Given the description of an element on the screen output the (x, y) to click on. 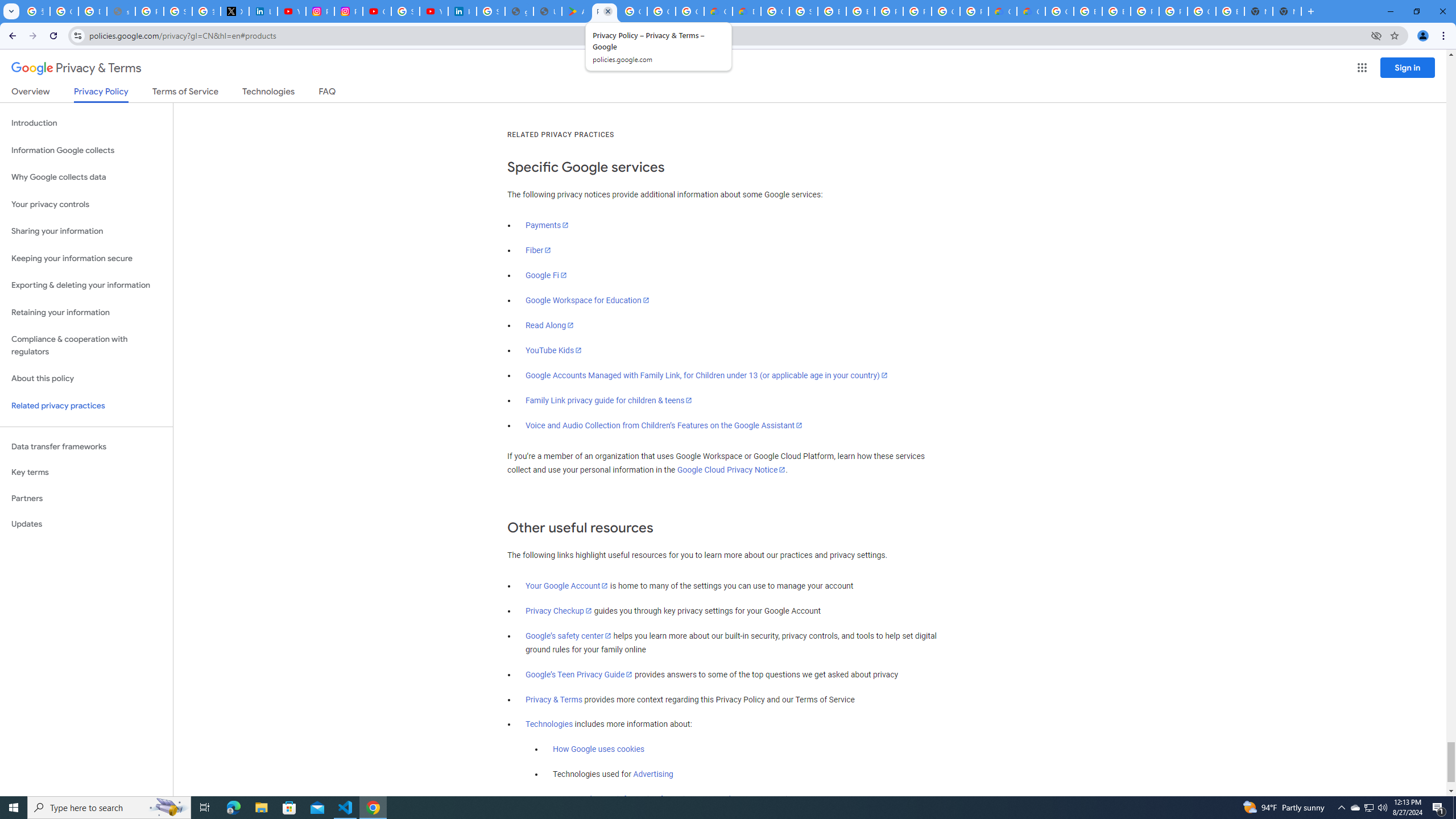
Sign in - Google Accounts (405, 11)
Browse Chrome as a guest - Computer - Google Chrome Help (860, 11)
Technologies (549, 724)
YouTube Content Monetization Policies - How YouTube Works (291, 11)
Google Workspace - Specific Terms (690, 11)
Retaining your information (86, 312)
Keeping your information secure (86, 258)
YouTube Kids (553, 350)
